Given the description of an element on the screen output the (x, y) to click on. 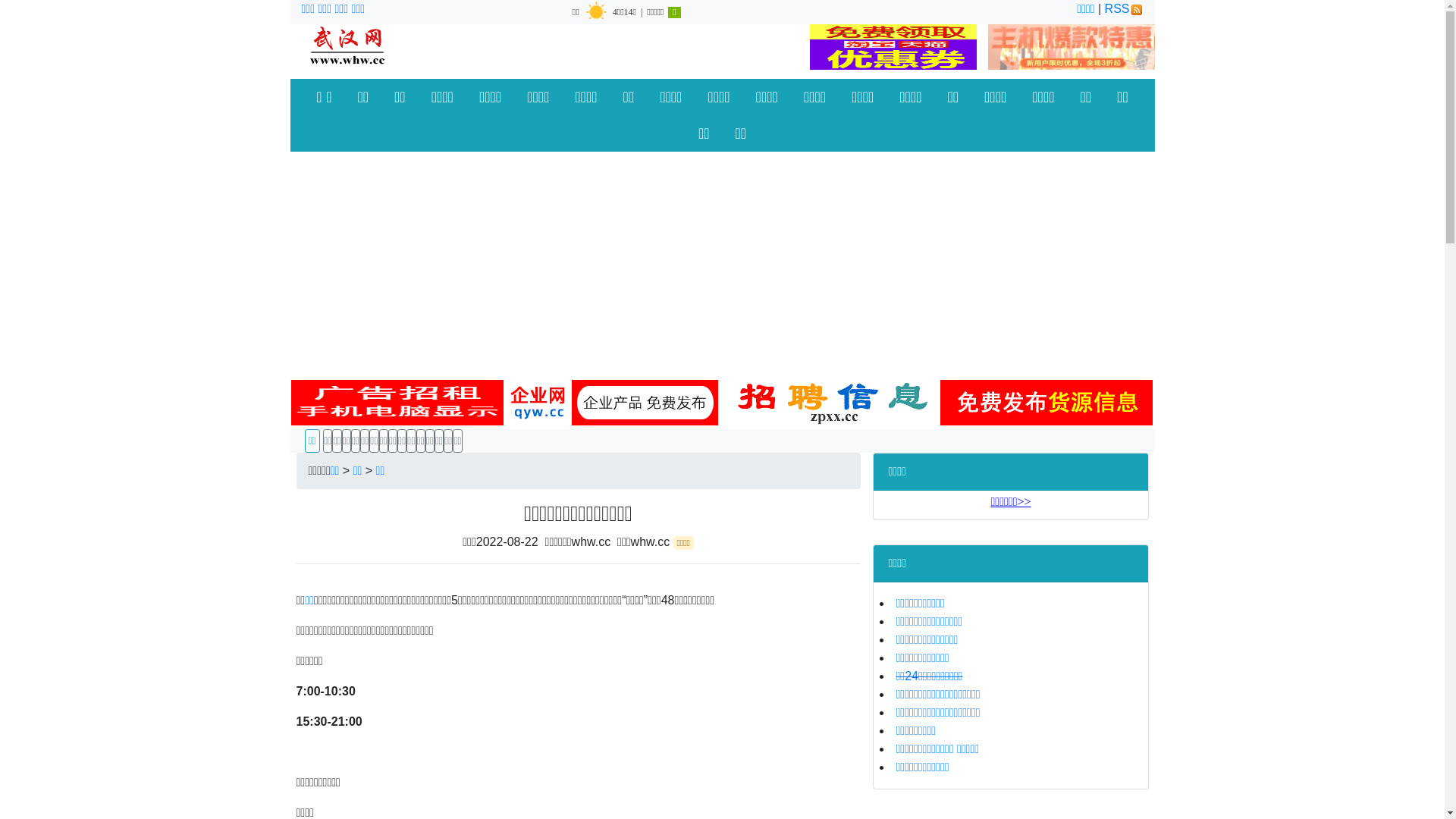
RSS Element type: text (1123, 8)
Advertisement Element type: hover (721, 265)
